Given the description of an element on the screen output the (x, y) to click on. 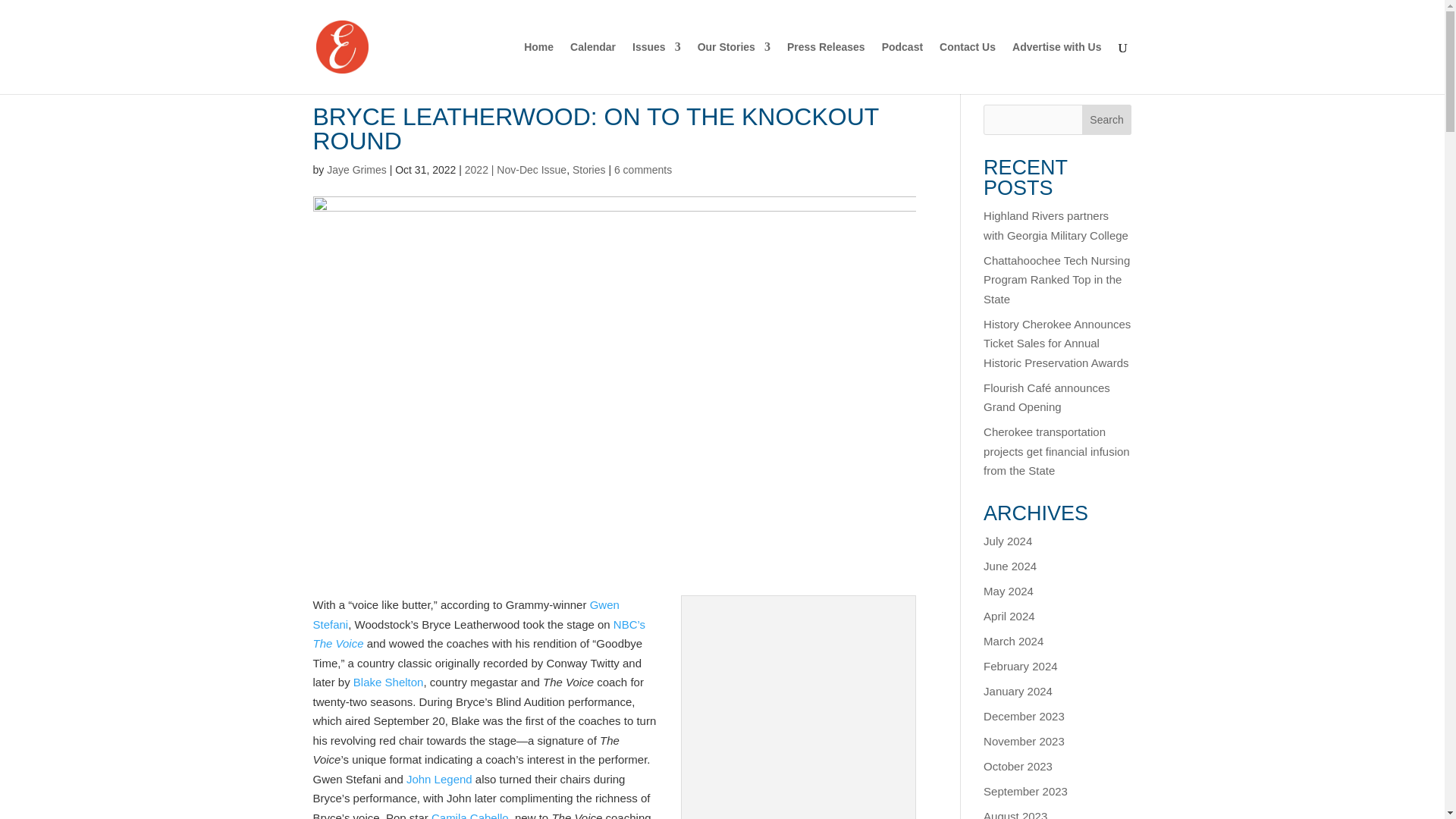
Advertise with Us (1055, 67)
Gwen Stefani (465, 614)
Contact Us (967, 67)
Jaye Grimes (356, 169)
Posts by Jaye Grimes (356, 169)
6 comments (642, 169)
Issues (656, 67)
Our Stories (733, 67)
Press Releases (825, 67)
Stories (588, 169)
